Given the description of an element on the screen output the (x, y) to click on. 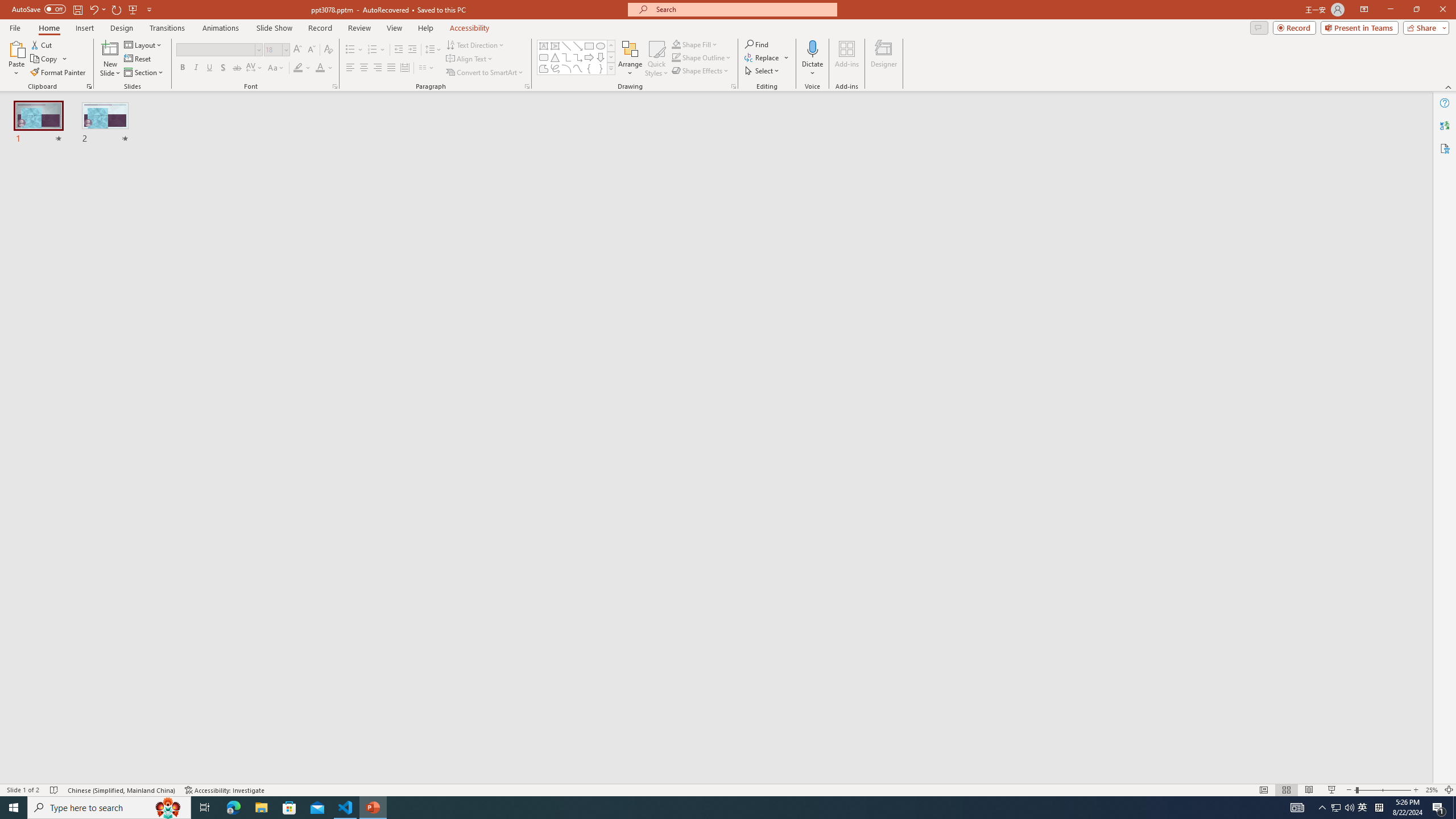
Customize Layout... (1043, 150)
Notebook (370, 114)
Terminal (596, 114)
Terminal (Ctrl+`) (579, 183)
SJTUvpn (440, 78)
Debug Console (Ctrl+Shift+Y) (486, 183)
wangyian_dsw - DSW (23, 183)
Explorer Section: workspace (188, 209)
Run and Debug (Ctrl+Shift+D) (76, 353)
